Given the description of an element on the screen output the (x, y) to click on. 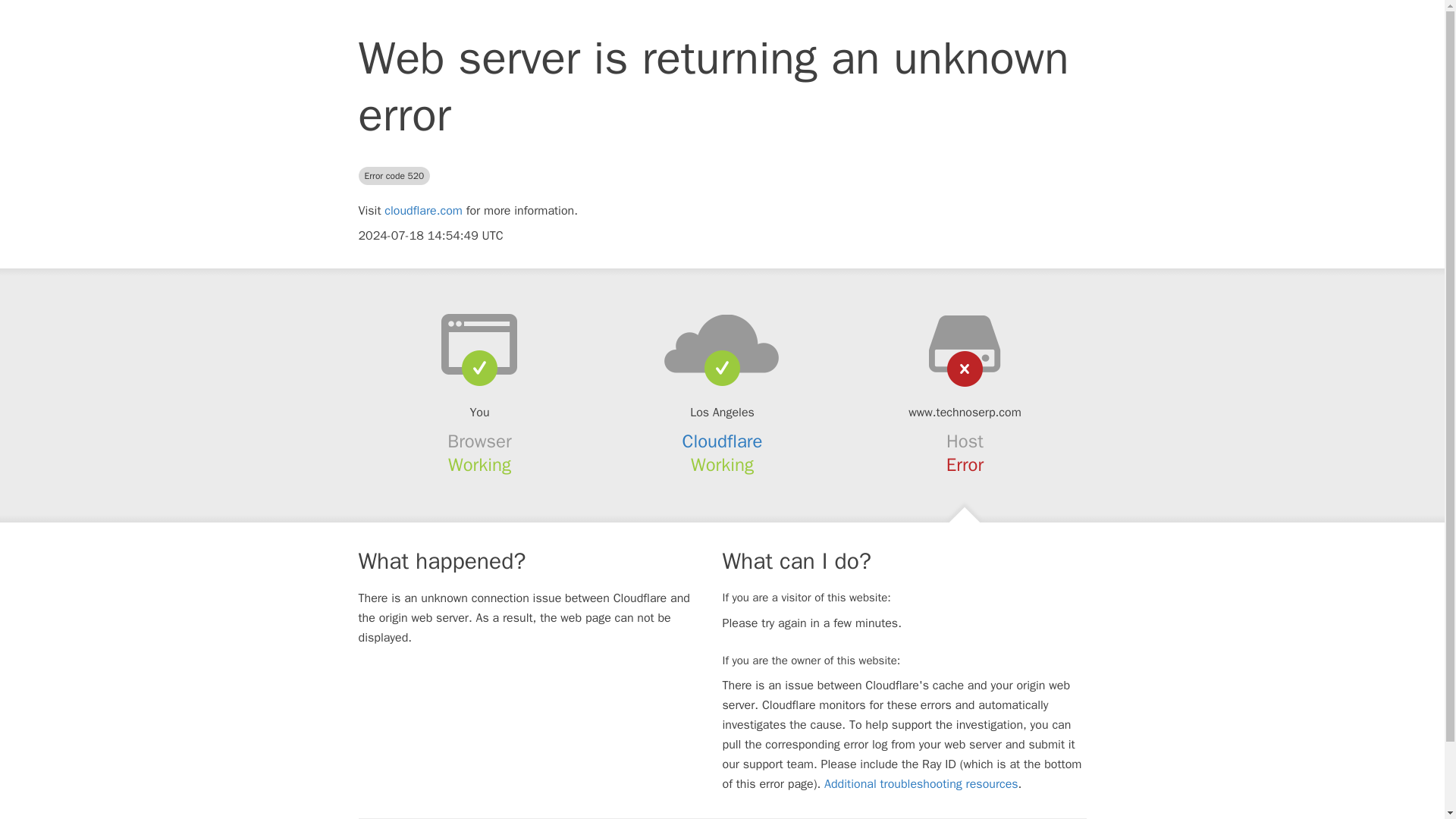
Cloudflare (722, 440)
cloudflare.com (423, 210)
Additional troubleshooting resources (920, 783)
